Given the description of an element on the screen output the (x, y) to click on. 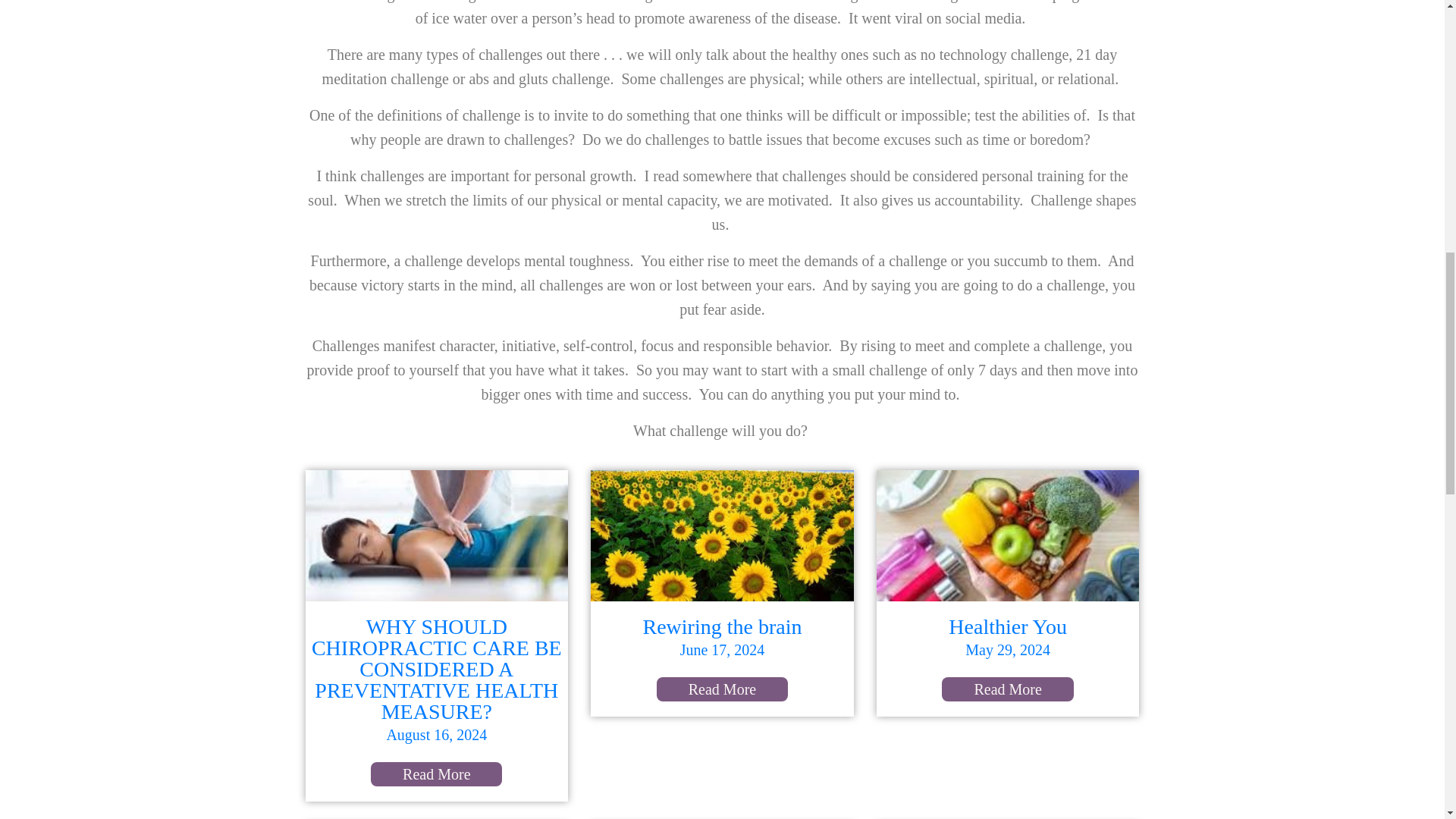
Read More (721, 689)
May 29, 2024 (1007, 649)
Read More (1007, 689)
August 16, 2024 (435, 734)
June 17, 2024 (722, 649)
Read More (436, 774)
Rewiring the brain (722, 626)
Healthier You (1008, 626)
